Given the description of an element on the screen output the (x, y) to click on. 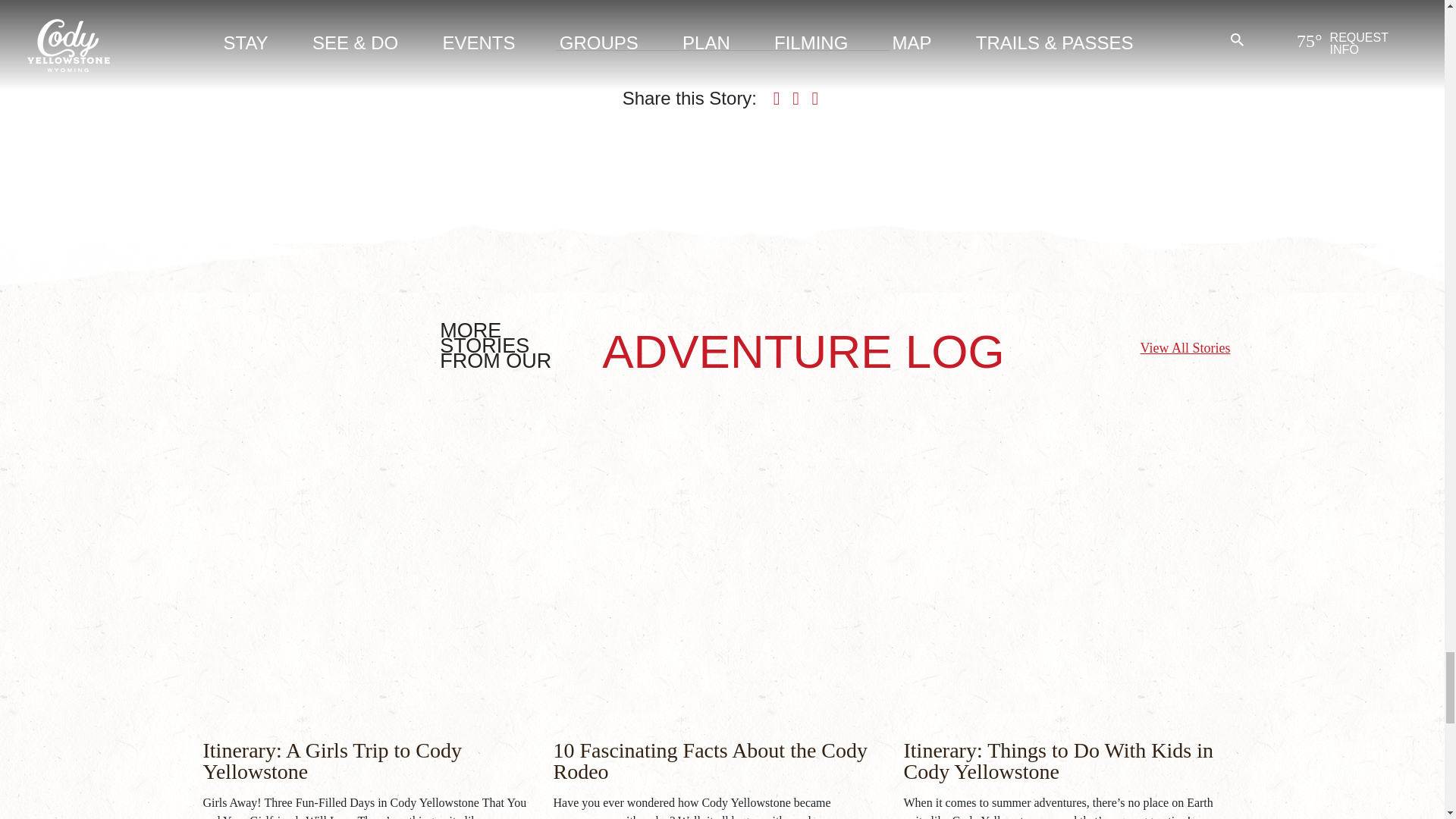
10 Fascinating Facts About the Cody Rodeo (710, 760)
View All Stories (1185, 348)
Itinerary: A Girls Trip to Cody Yellowstone (332, 760)
Itinerary: Things to Do With Kids in Cody Yellowstone (1058, 760)
